Given the description of an element on the screen output the (x, y) to click on. 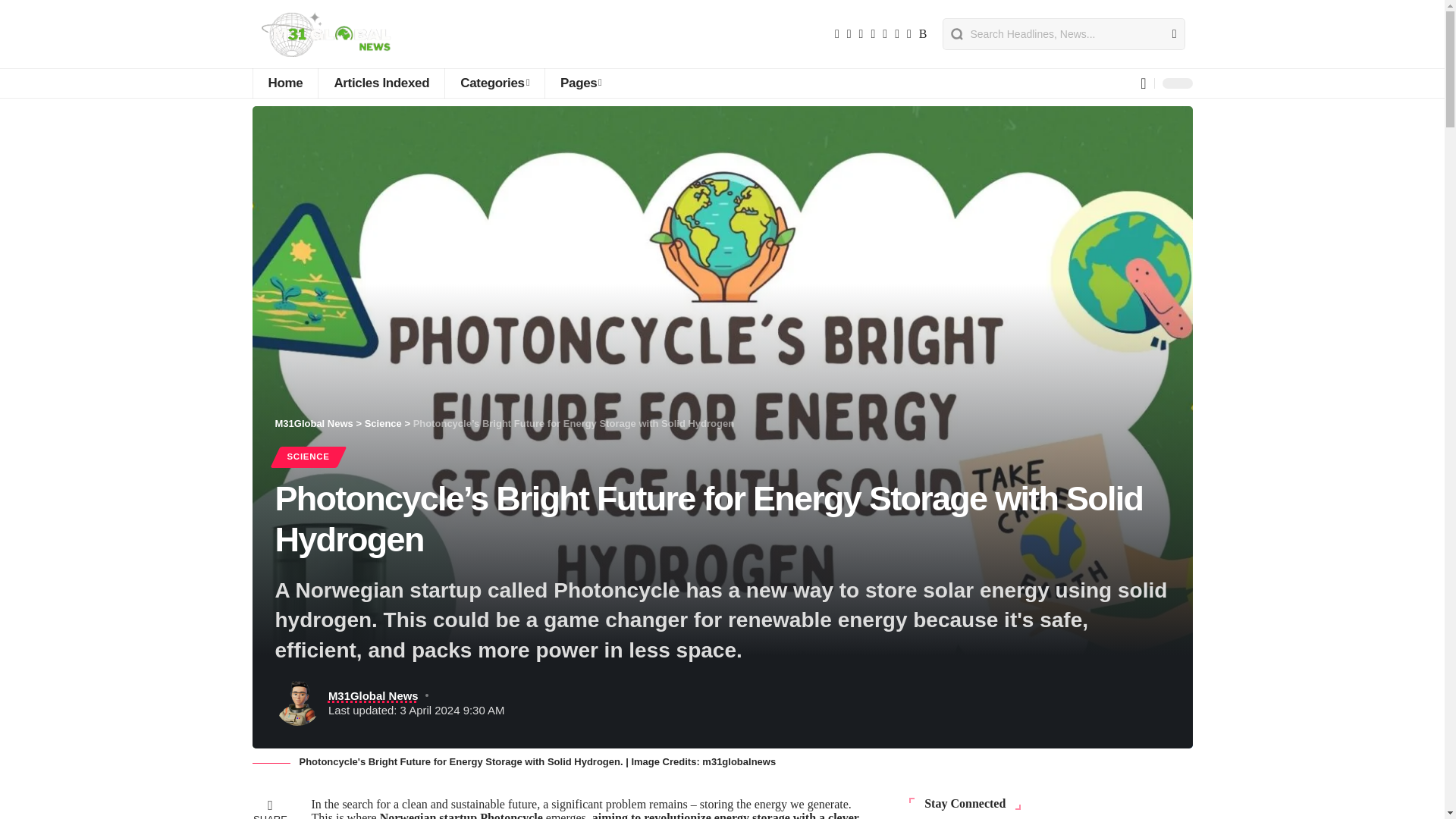
Home (284, 82)
M31Global News (334, 33)
Search (1168, 33)
Pages (580, 82)
Articles Indexed (380, 82)
Go to M31Global News. (313, 423)
Categories (494, 82)
Go to the Science Category archives. (383, 423)
